Given the description of an element on the screen output the (x, y) to click on. 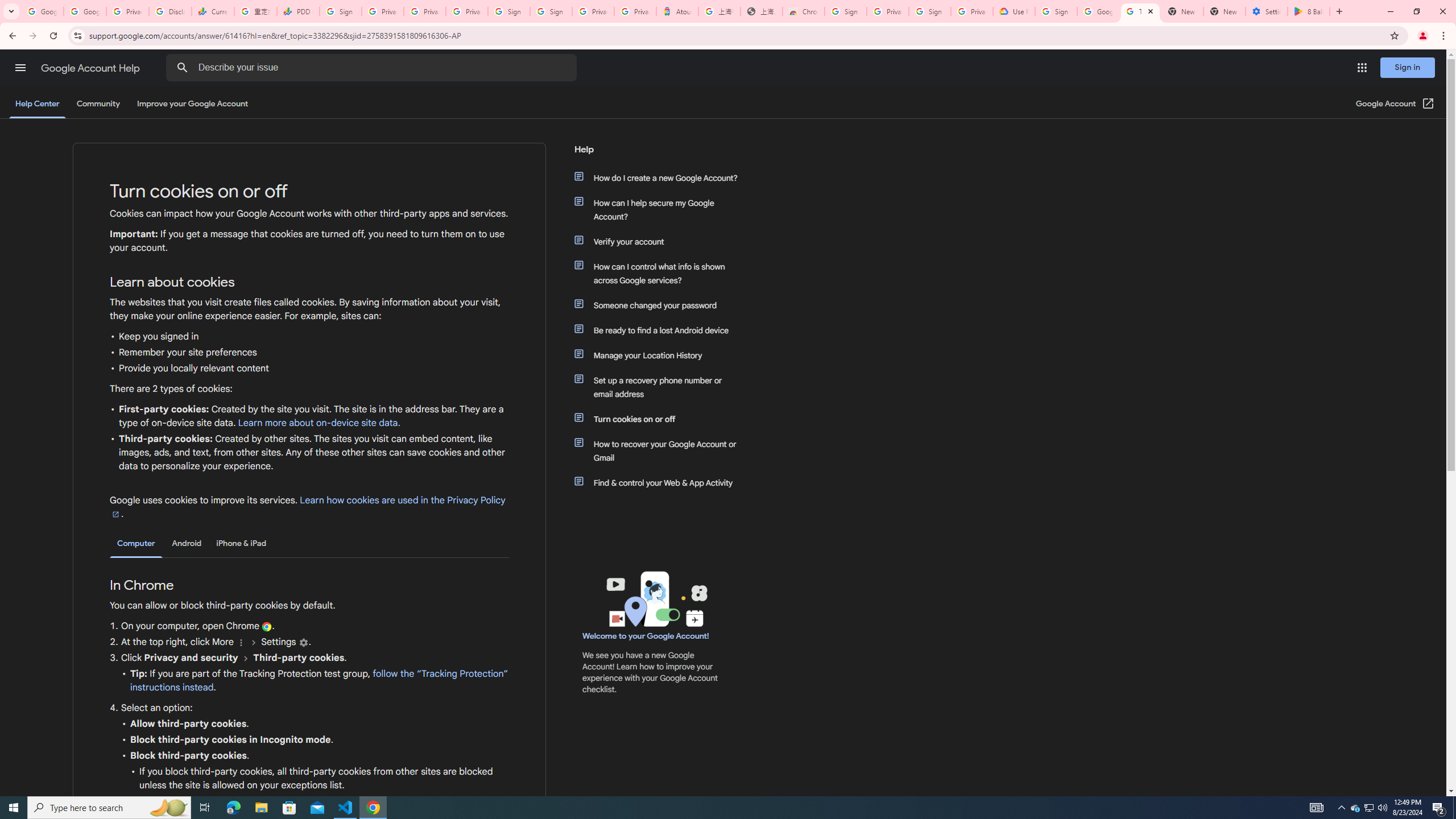
Google Workspace Admin Community (42, 11)
Sign in - Google Accounts (845, 11)
Sign in - Google Accounts (1055, 11)
Manage your Location History (661, 355)
Welcome to your Google Account! (645, 635)
Learning Center home page image (655, 598)
More (241, 642)
iPhone & iPad (240, 542)
